Given the description of an element on the screen output the (x, y) to click on. 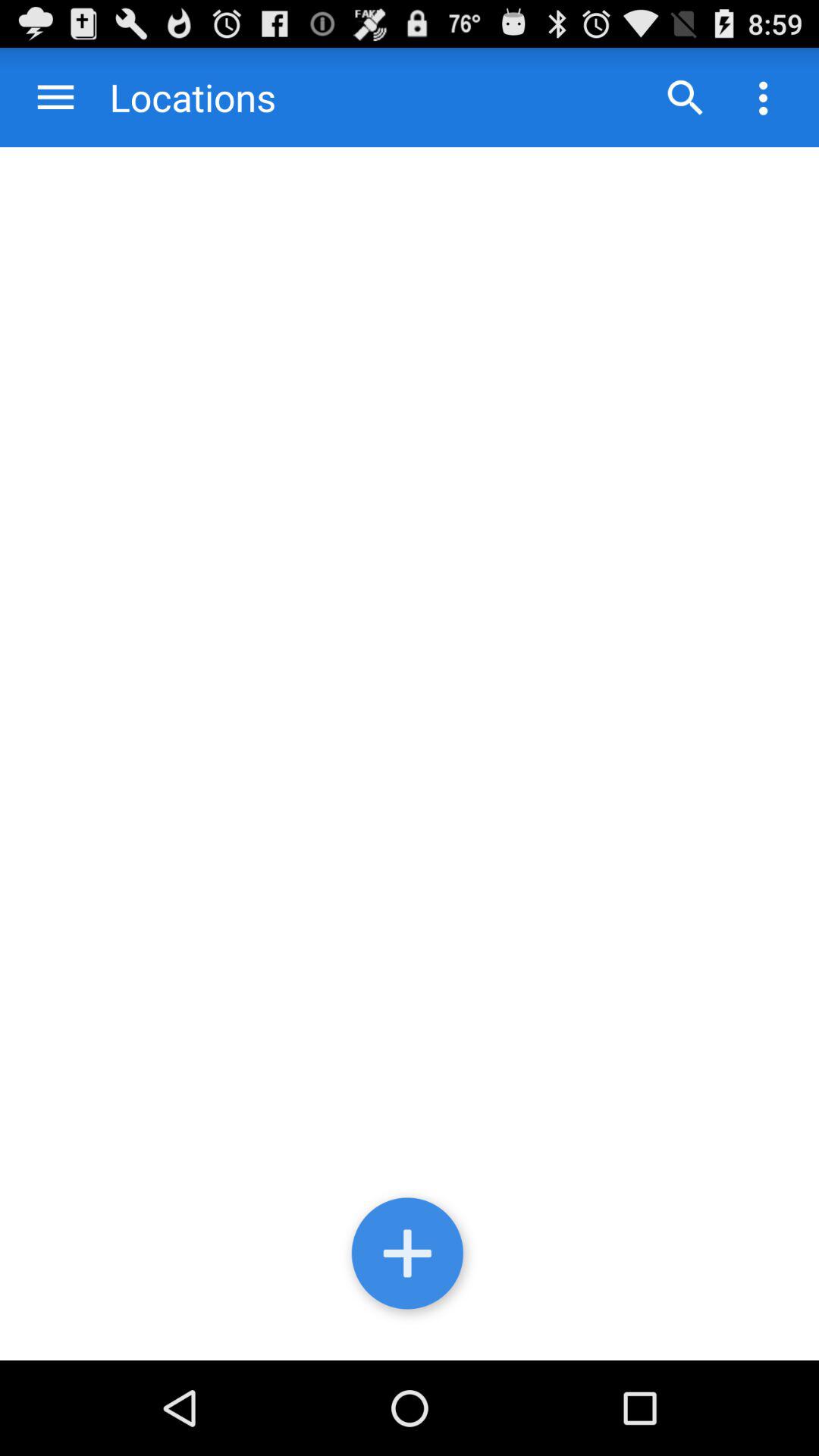
view menu (55, 97)
